Given the description of an element on the screen output the (x, y) to click on. 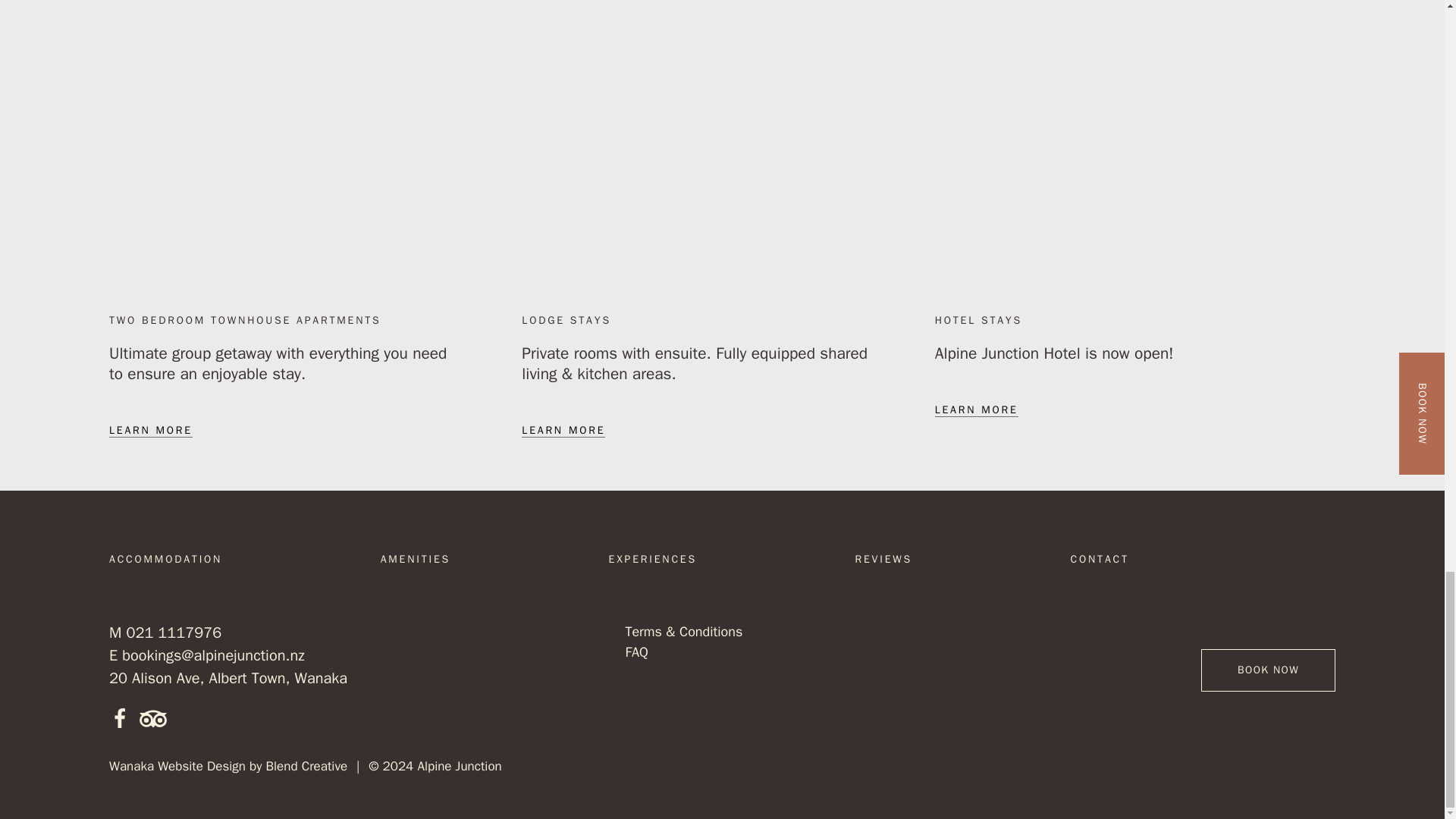
AMENITIES (414, 558)
LEARN MORE (975, 409)
ACCOMMODATION (165, 558)
EXPERIENCES (652, 558)
CONTACT (1099, 558)
LEARN MORE (150, 430)
REVIEWS (884, 558)
LEARN MORE (563, 430)
20 Alison Ave, Albert Town, Wanaka (228, 678)
021 1117976 (173, 632)
BOOK NOW (1268, 670)
